Given the description of an element on the screen output the (x, y) to click on. 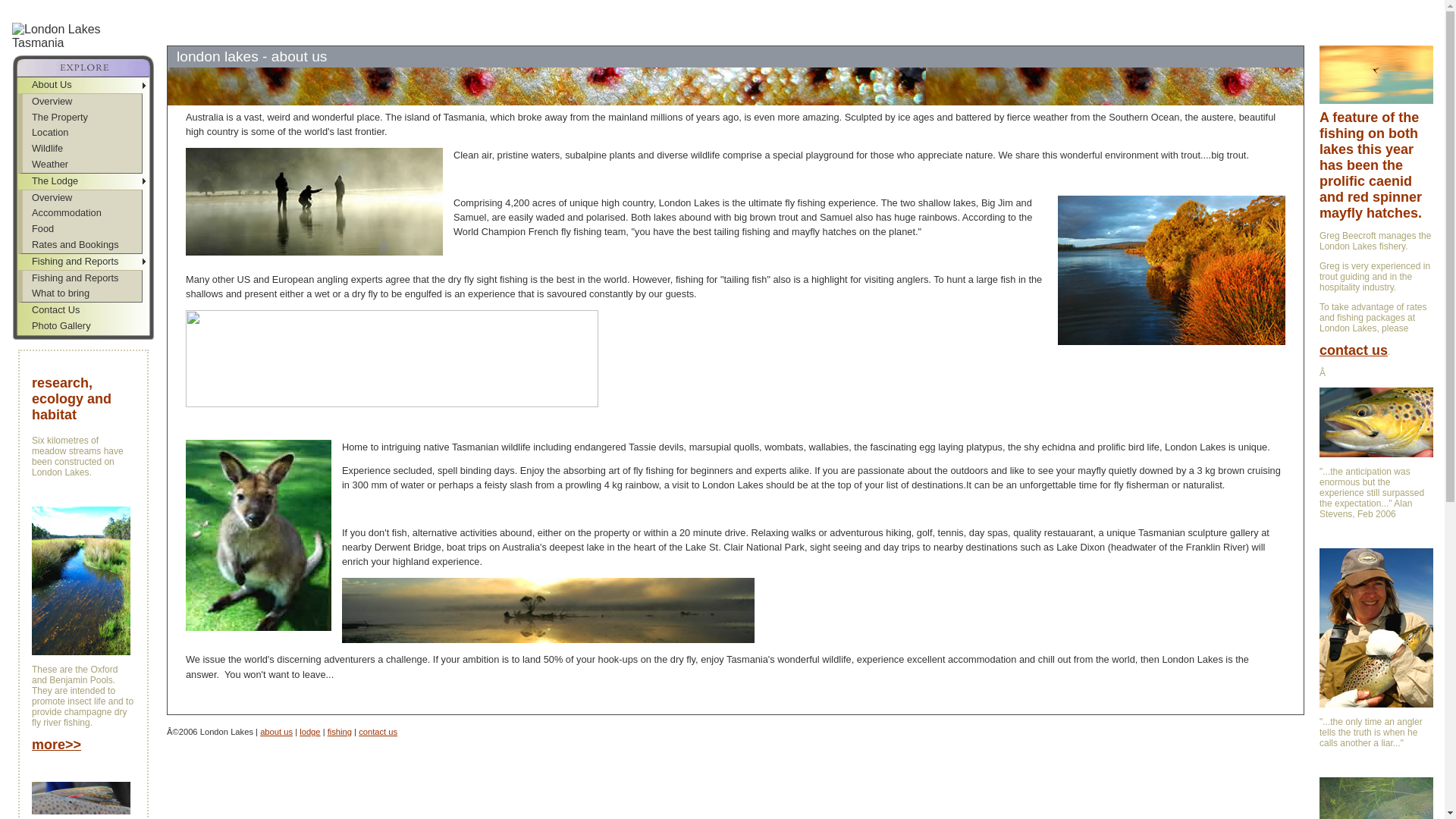
Rates and Bookings Element type: text (81, 245)
Jump to Sidebar Element type: text (147, 5)
The Property Element type: text (81, 117)
about us Element type: text (276, 731)
Contact Us Element type: text (83, 310)
Jump to News Bar Element type: text (236, 5)
Location Element type: text (81, 133)
Skip to Navigation Bar Element type: text (51, 5)
fishing Element type: text (339, 731)
Overview Element type: text (81, 198)
What to bring Element type: text (81, 293)
The Lodge Element type: text (83, 181)
Wildlife Element type: text (81, 148)
Food Element type: text (81, 229)
About Us Element type: text (83, 85)
Overview Element type: text (81, 101)
lodge Element type: text (309, 731)
Weather Element type: text (81, 164)
Accommodation Element type: text (81, 213)
Fishing and Reports Element type: text (81, 278)
Photo Gallery Element type: text (83, 326)
contact us Element type: text (1353, 351)
more>> Element type: text (56, 745)
contact us Element type: text (377, 731)
Fishing and Reports Element type: text (83, 261)
